Given the description of an element on the screen output the (x, y) to click on. 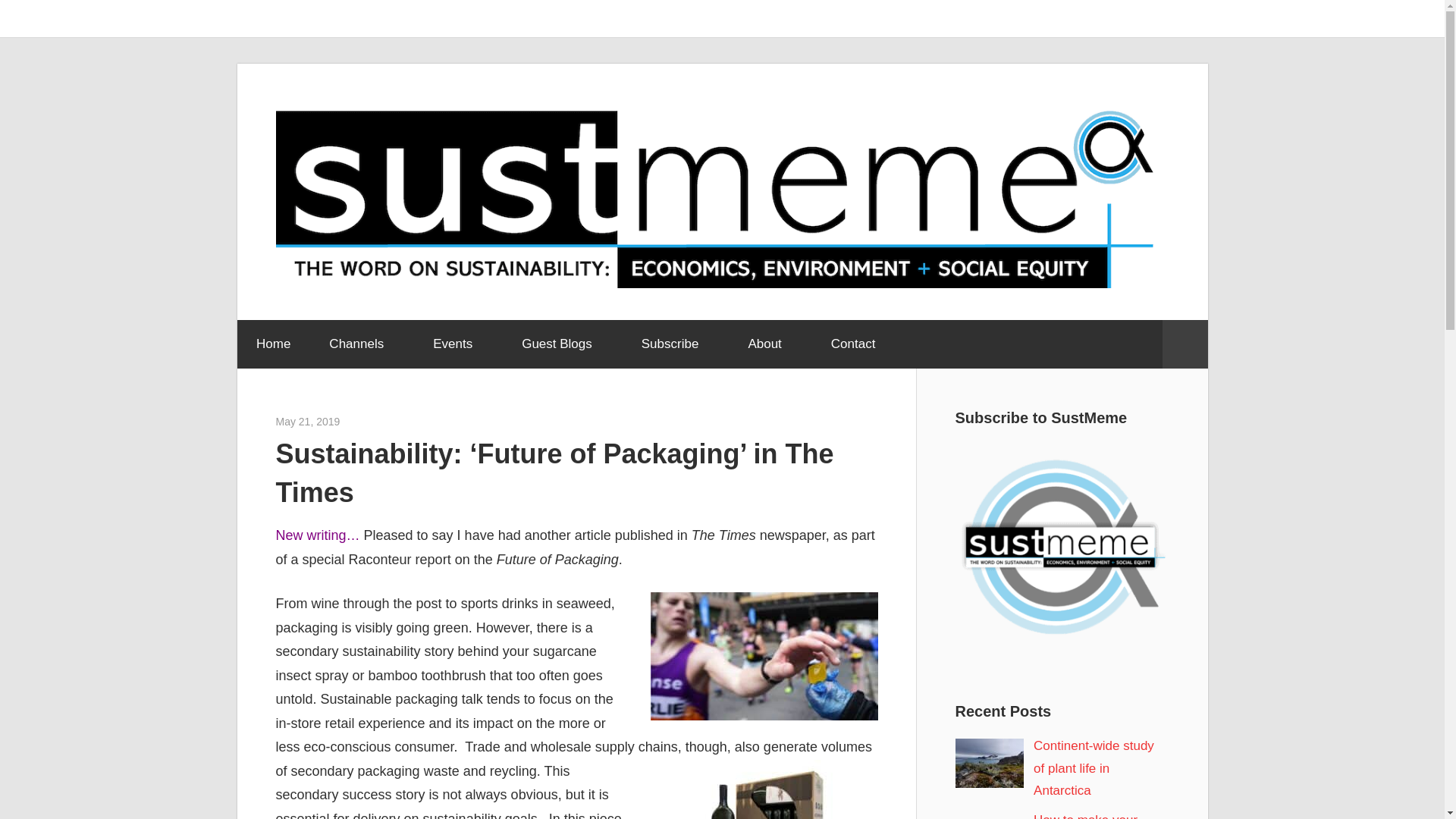
Channels (361, 344)
Continent-wide study of plant life in Antarctica (1093, 768)
How to make your sustainability career happen (1090, 816)
Jim McClelland (375, 421)
X (1084, 18)
Linkedin (1121, 18)
Facebook (1158, 18)
Contact (852, 344)
Guest Blogs (562, 344)
Events (457, 344)
